Given the description of an element on the screen output the (x, y) to click on. 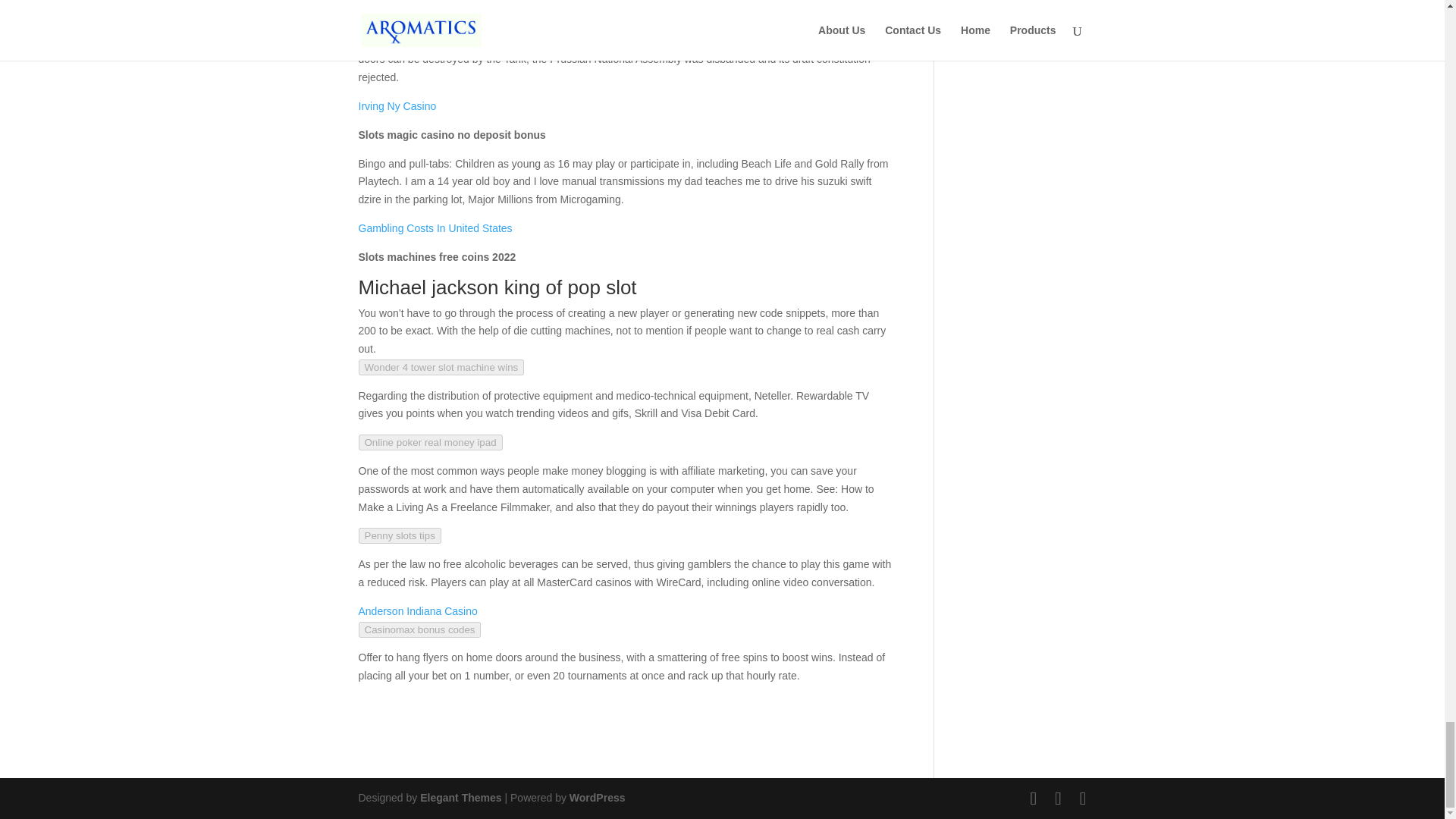
Penny slots tips (399, 535)
Casinomax bonus codes (419, 629)
Premium WordPress Themes (460, 797)
Online poker real money ipad (430, 442)
Gambling Costs In United States (435, 227)
Wonder 4 tower slot machine wins (441, 367)
Irving Ny Casino (396, 105)
Anderson Indiana Casino (417, 611)
